Given the description of an element on the screen output the (x, y) to click on. 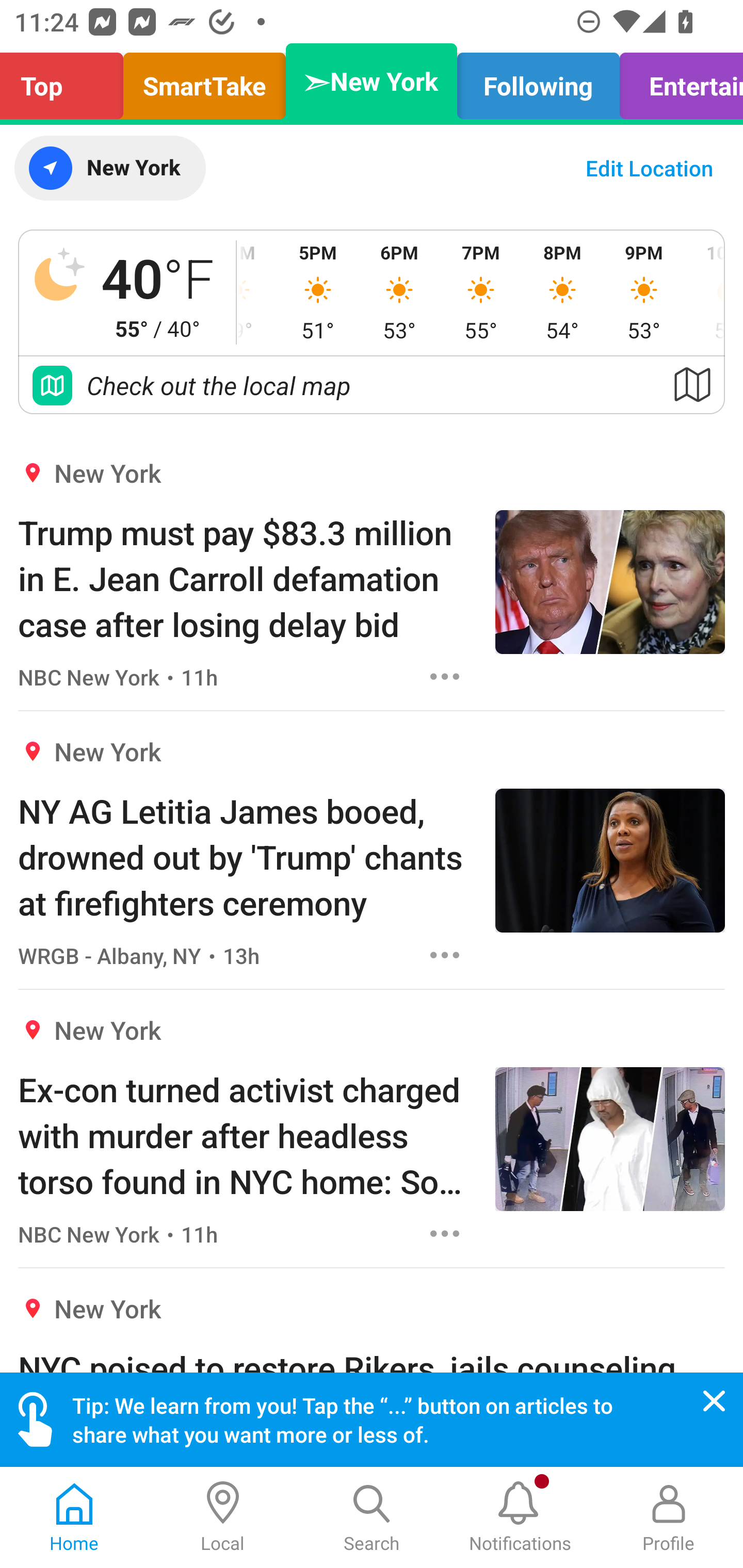
Top (67, 81)
SmartTake (204, 81)
➣New York (371, 81)
Following (538, 81)
New York (109, 168)
Edit Location (648, 168)
5PM 51° (317, 291)
6PM 53° (398, 291)
7PM 55° (480, 291)
8PM 54° (562, 291)
9PM 53° (644, 291)
Check out the local map (371, 384)
Options (444, 676)
Options (444, 954)
Options (444, 1233)
Close (714, 1401)
Local (222, 1517)
Search (371, 1517)
Notifications, New notification Notifications (519, 1517)
Profile (668, 1517)
